Given the description of an element on the screen output the (x, y) to click on. 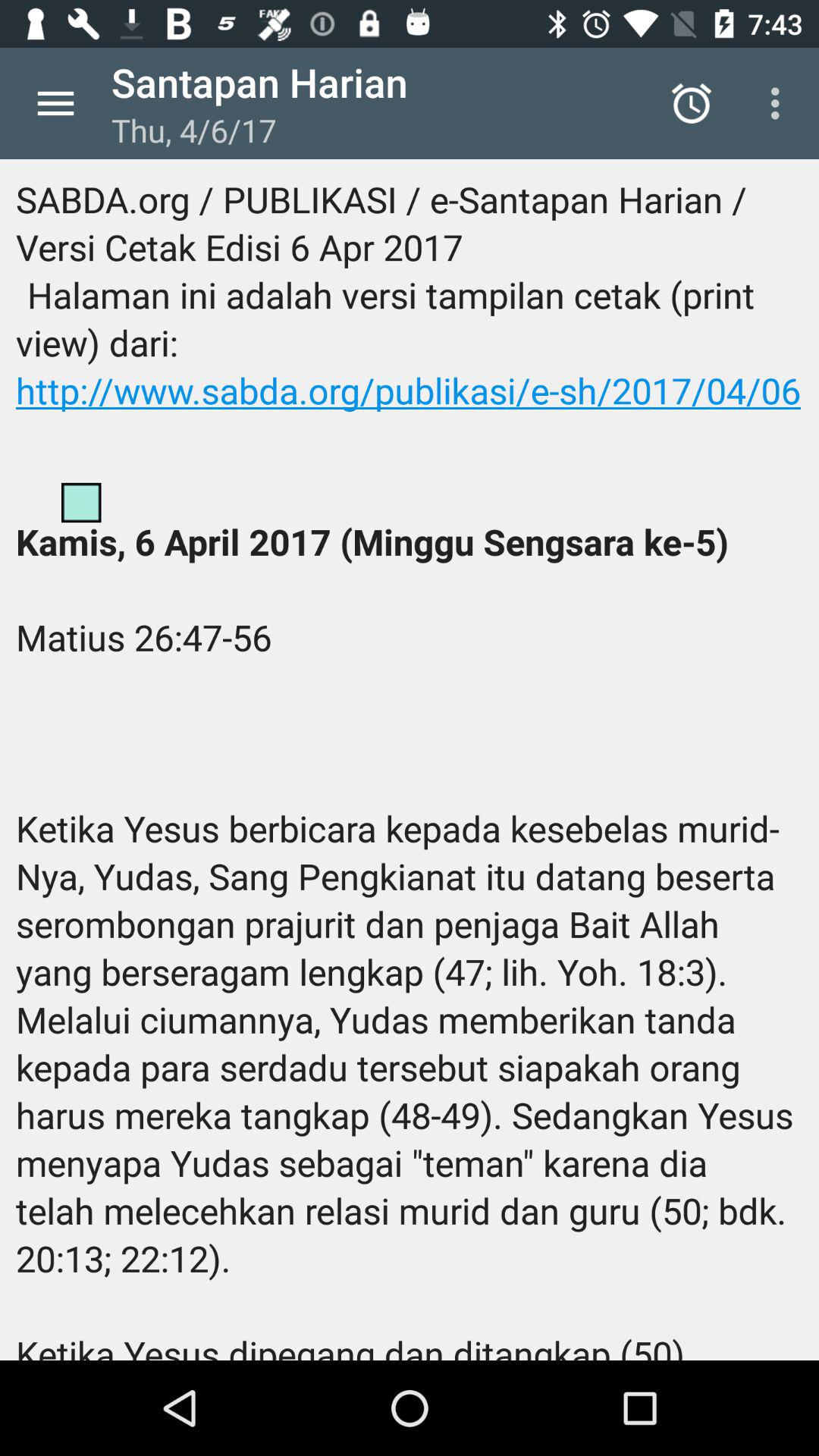
launch icon above sabda org publikasi item (779, 103)
